Given the description of an element on the screen output the (x, y) to click on. 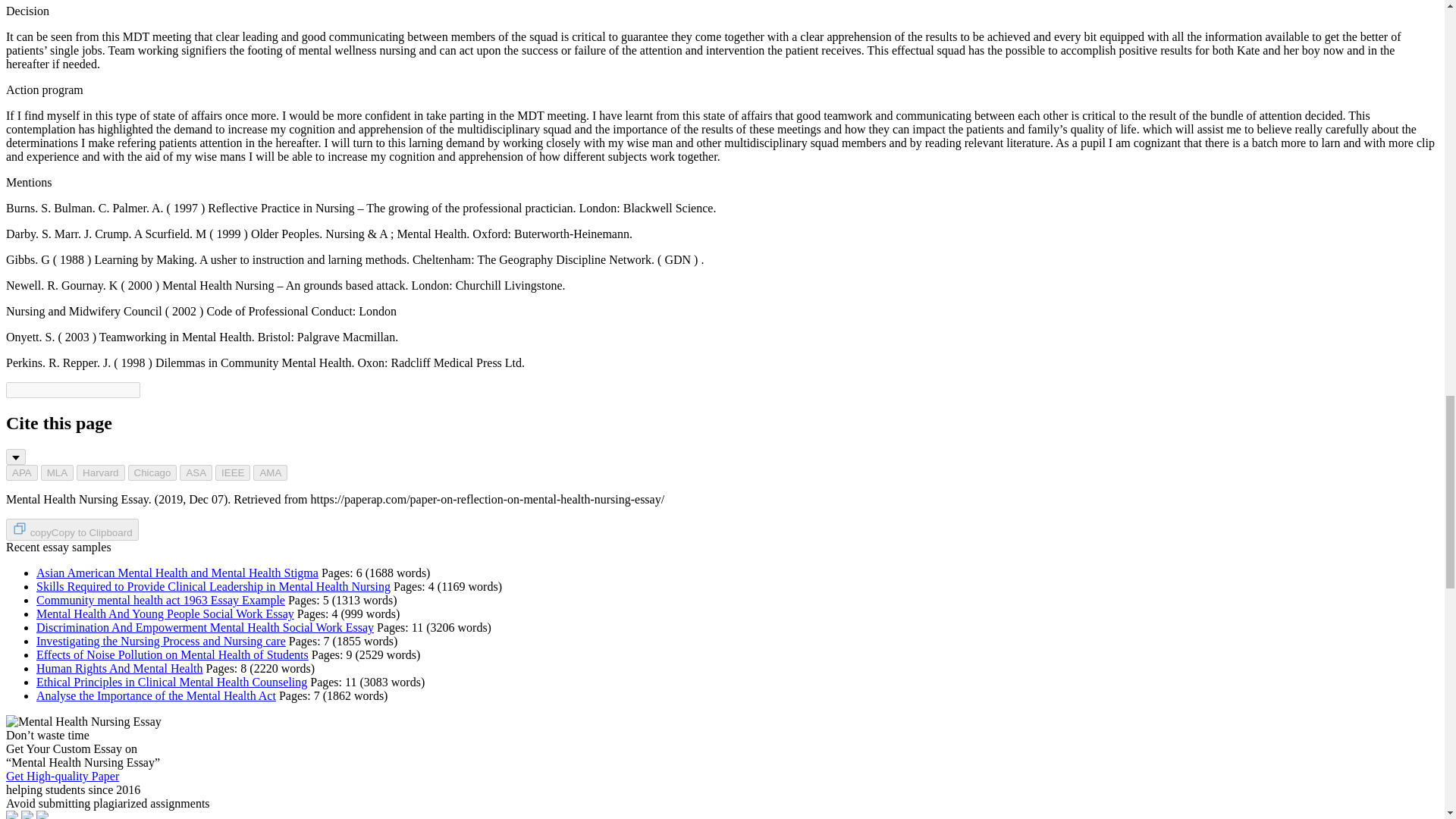
Harvard (100, 472)
Ethical Principles in Clinical Mental Health Counseling (171, 681)
copyCopy to Clipboard (71, 529)
Investigating the Nursing Process and Nursing care (160, 640)
Chicago (152, 472)
Community mental health act 1963 Essay Example (160, 599)
APA (21, 472)
Get High-quality Paper (62, 775)
ASA (195, 472)
